Given the description of an element on the screen output the (x, y) to click on. 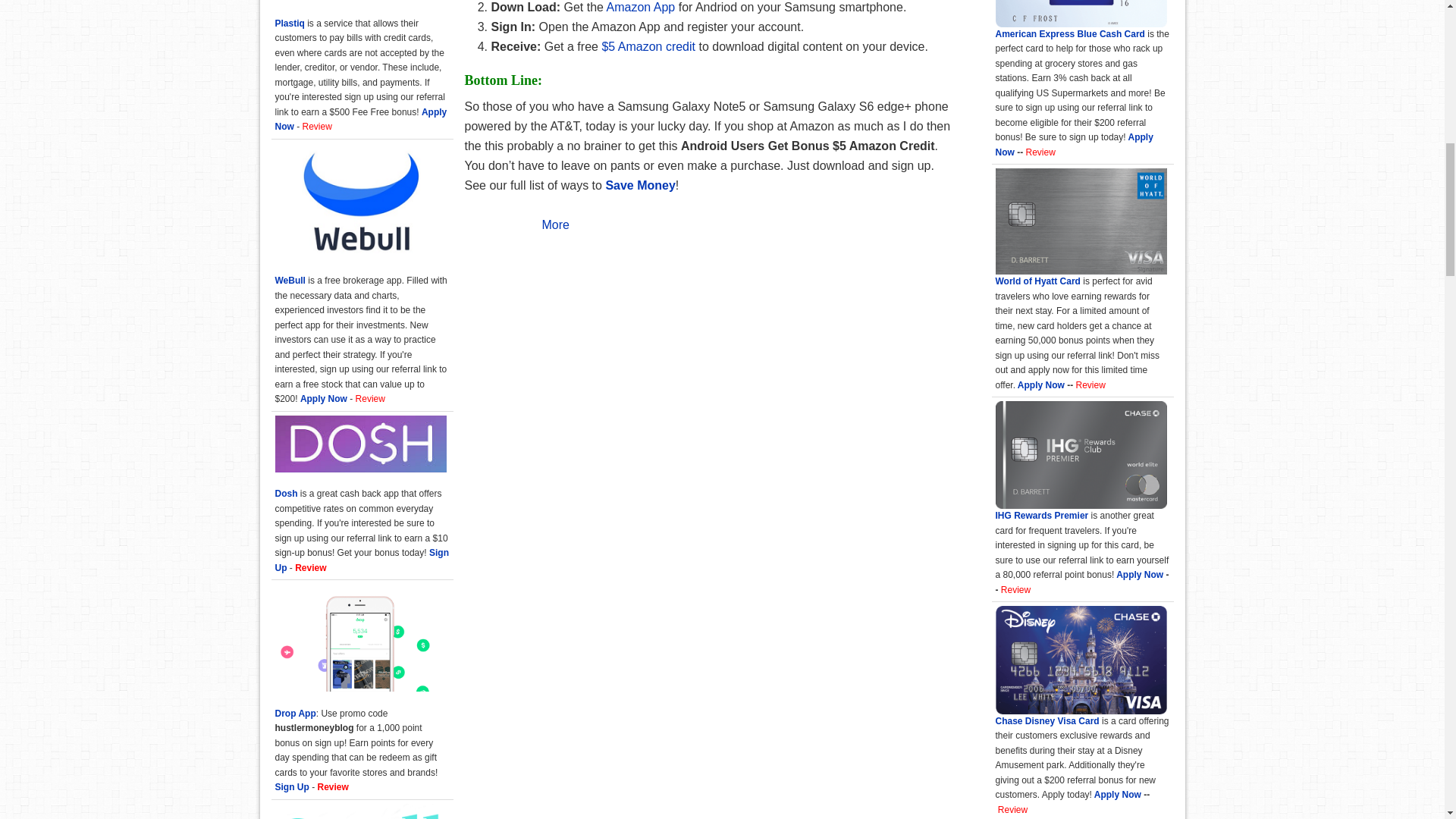
Amazon App (641, 6)
Save Money (640, 185)
More (555, 224)
